Given the description of an element on the screen output the (x, y) to click on. 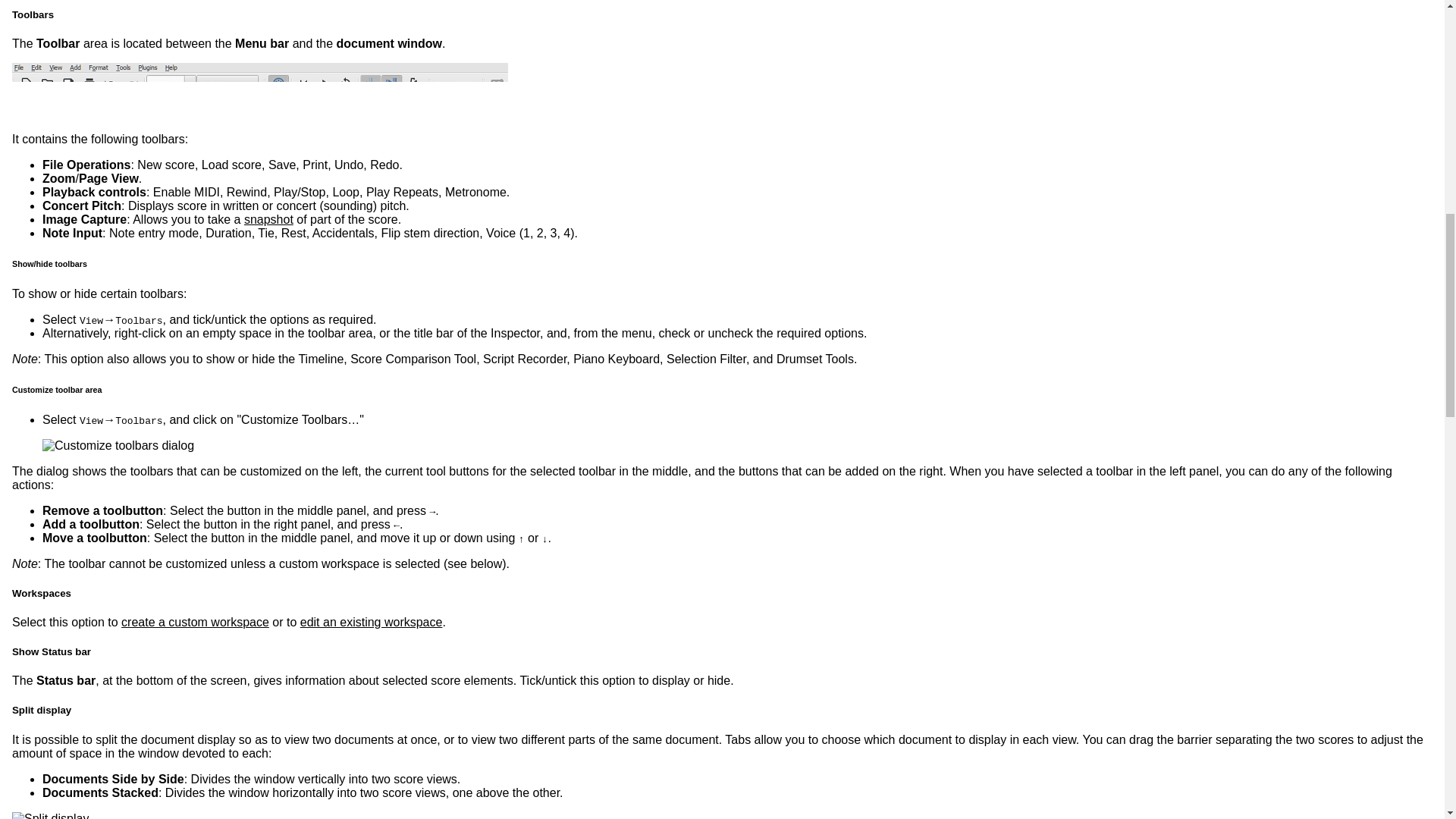
create a custom workspace (194, 621)
Toolbar area (259, 90)
edit an existing workspace (370, 621)
snapshot (269, 219)
Split display (49, 815)
Customize toolbars dialog (117, 445)
